Given the description of an element on the screen output the (x, y) to click on. 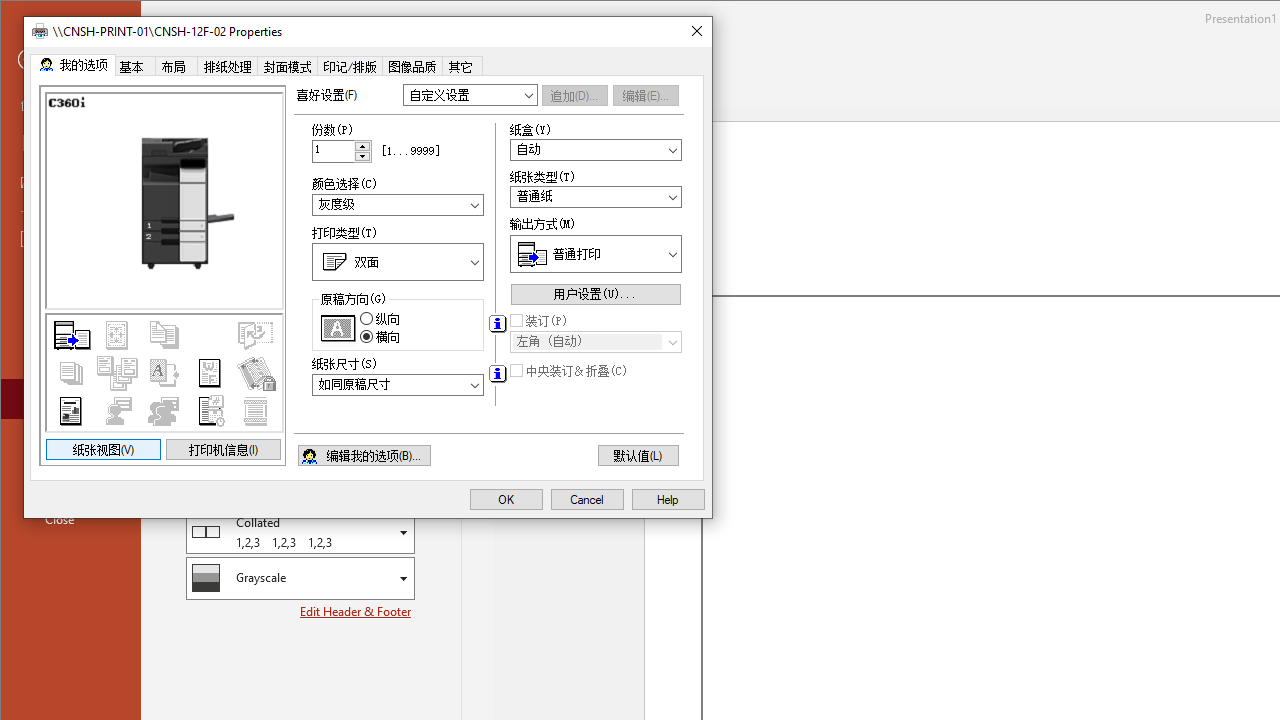
Edit Header & Footer (356, 611)
AutomationID: 2200 (497, 373)
Cancel (587, 499)
